Given the description of an element on the screen output the (x, y) to click on. 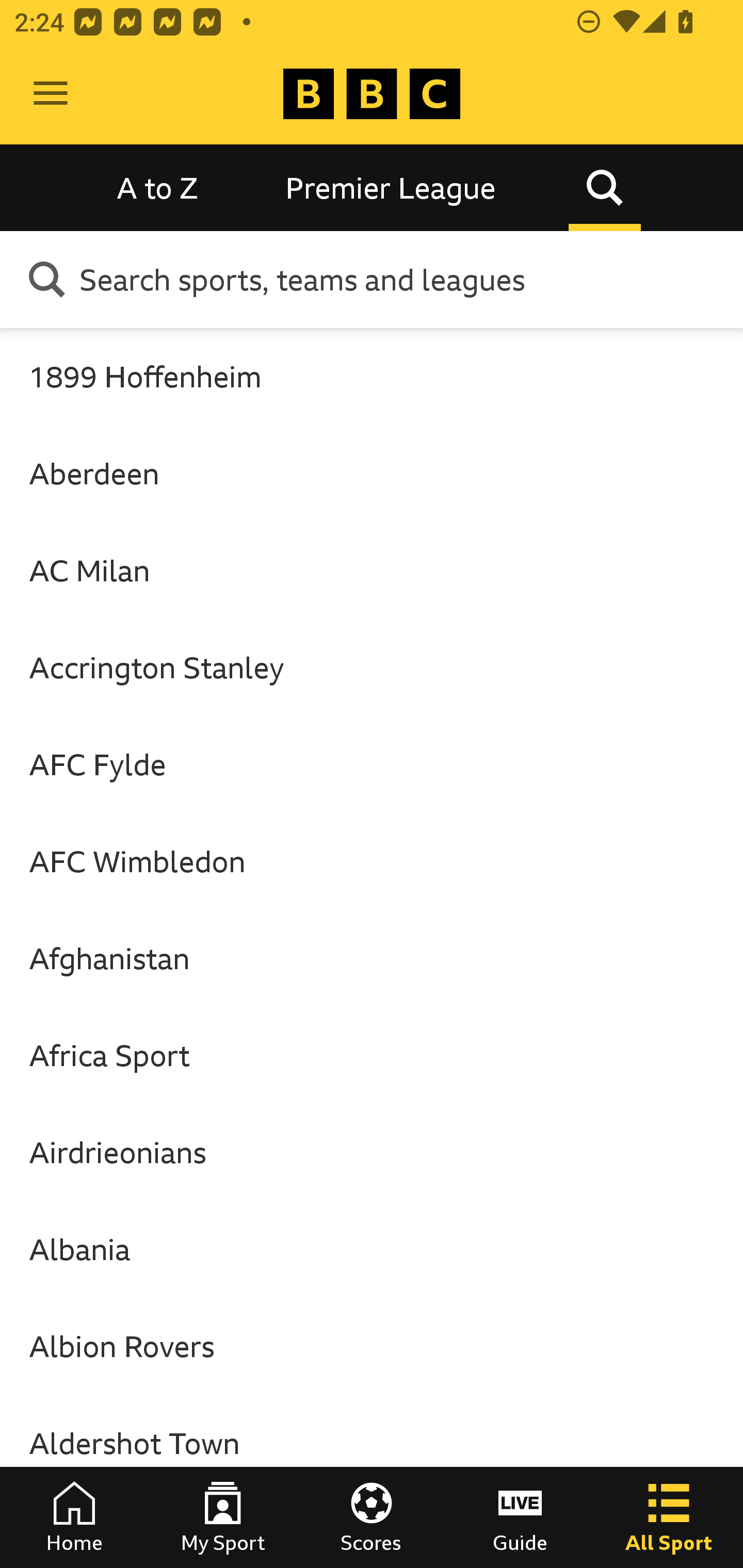
Open Menu (50, 93)
A to Z (157, 187)
Premier League (390, 187)
Search sports, teams and leagues (404, 278)
1899 Hoffenheim (371, 375)
Aberdeen (371, 473)
AC Milan (371, 570)
Accrington Stanley (371, 667)
AFC Fylde (371, 764)
AFC Wimbledon (371, 860)
Afghanistan (371, 957)
Africa Sport (371, 1054)
Airdrieonians (371, 1152)
Albania (371, 1249)
Albion Rovers (371, 1345)
Aldershot Town (371, 1442)
Home (74, 1517)
My Sport (222, 1517)
Scores (371, 1517)
Guide (519, 1517)
